Given the description of an element on the screen output the (x, y) to click on. 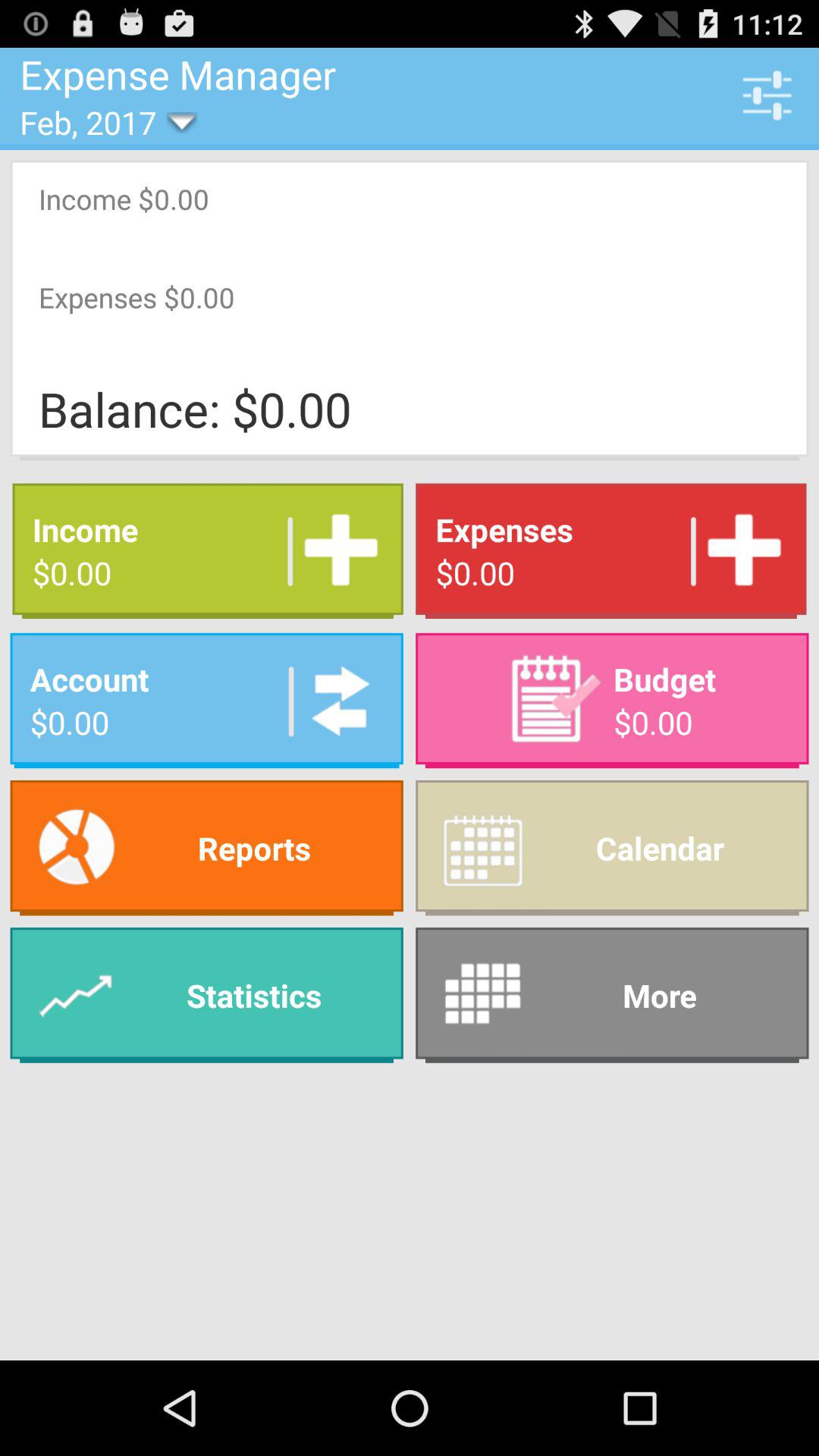
expand (335, 550)
